Given the description of an element on the screen output the (x, y) to click on. 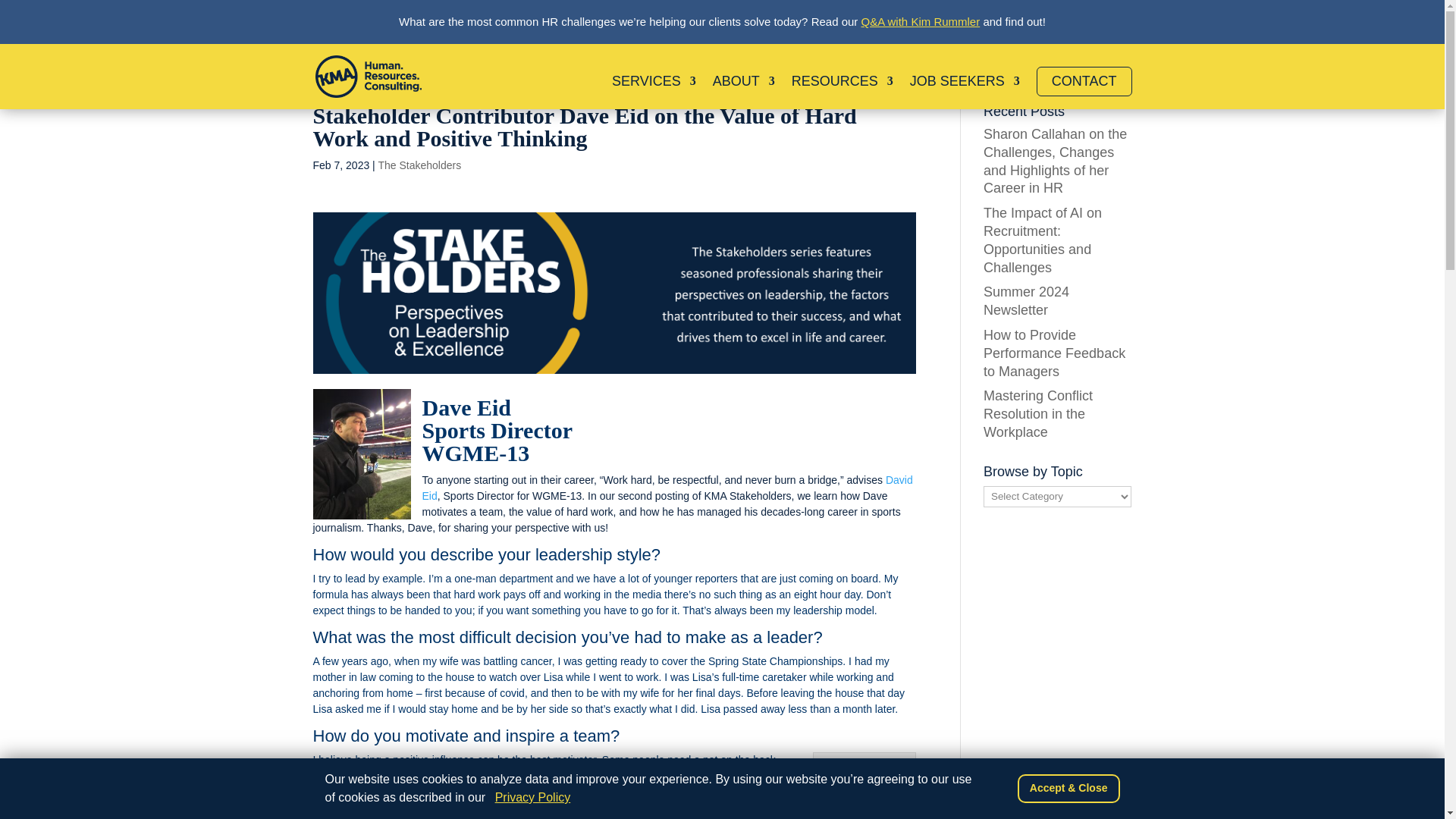
JOB SEEKERS (965, 92)
CONTACT (1084, 81)
ABOUT (743, 92)
SERVICES (653, 92)
RESOURCES (842, 92)
